Given the description of an element on the screen output the (x, y) to click on. 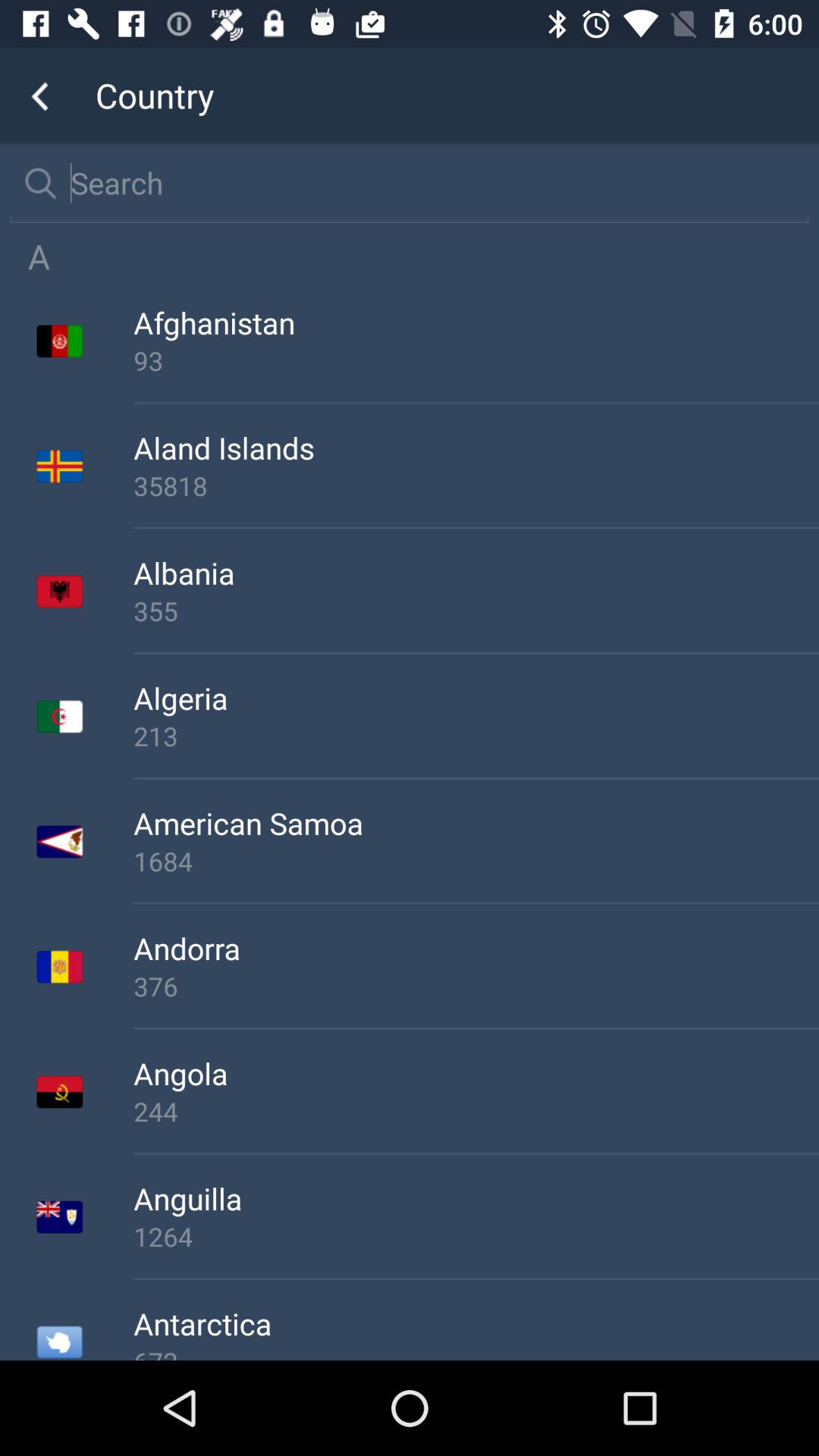
select the item below the albania item (476, 610)
